Given the description of an element on the screen output the (x, y) to click on. 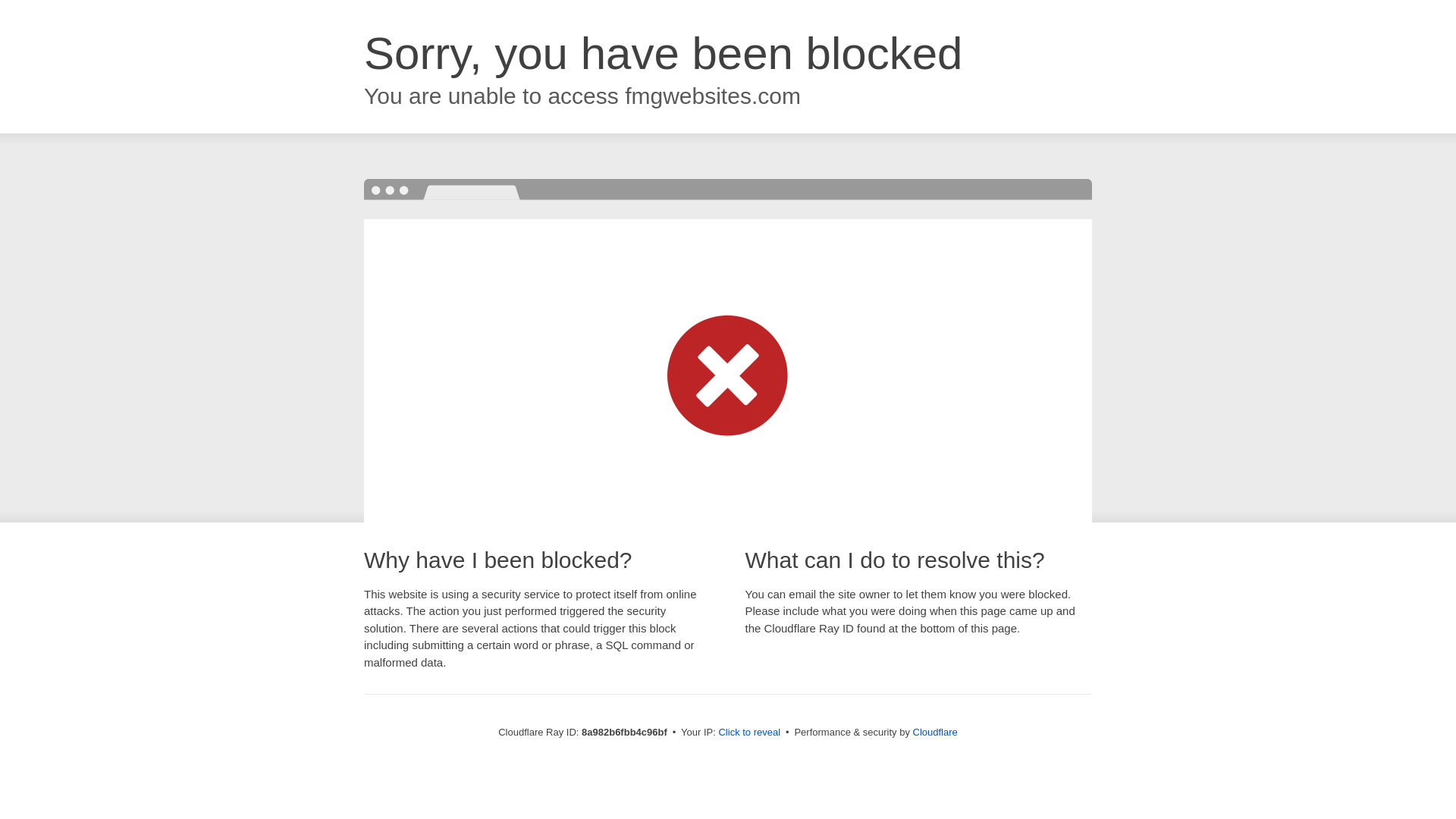
Click to reveal (748, 732)
Cloudflare (935, 731)
